Given the description of an element on the screen output the (x, y) to click on. 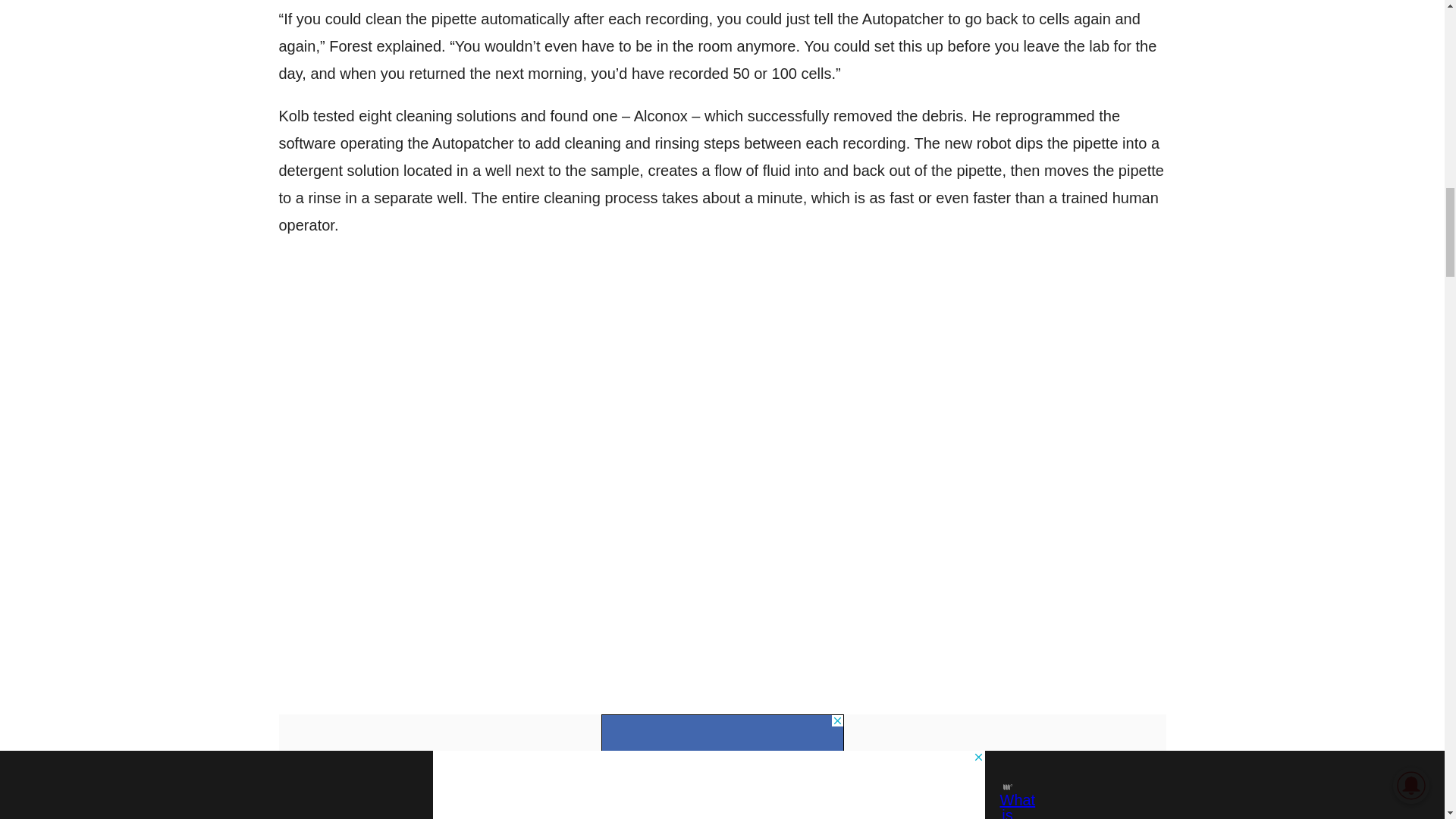
3rd party ad content (721, 733)
